Given the description of an element on the screen output the (x, y) to click on. 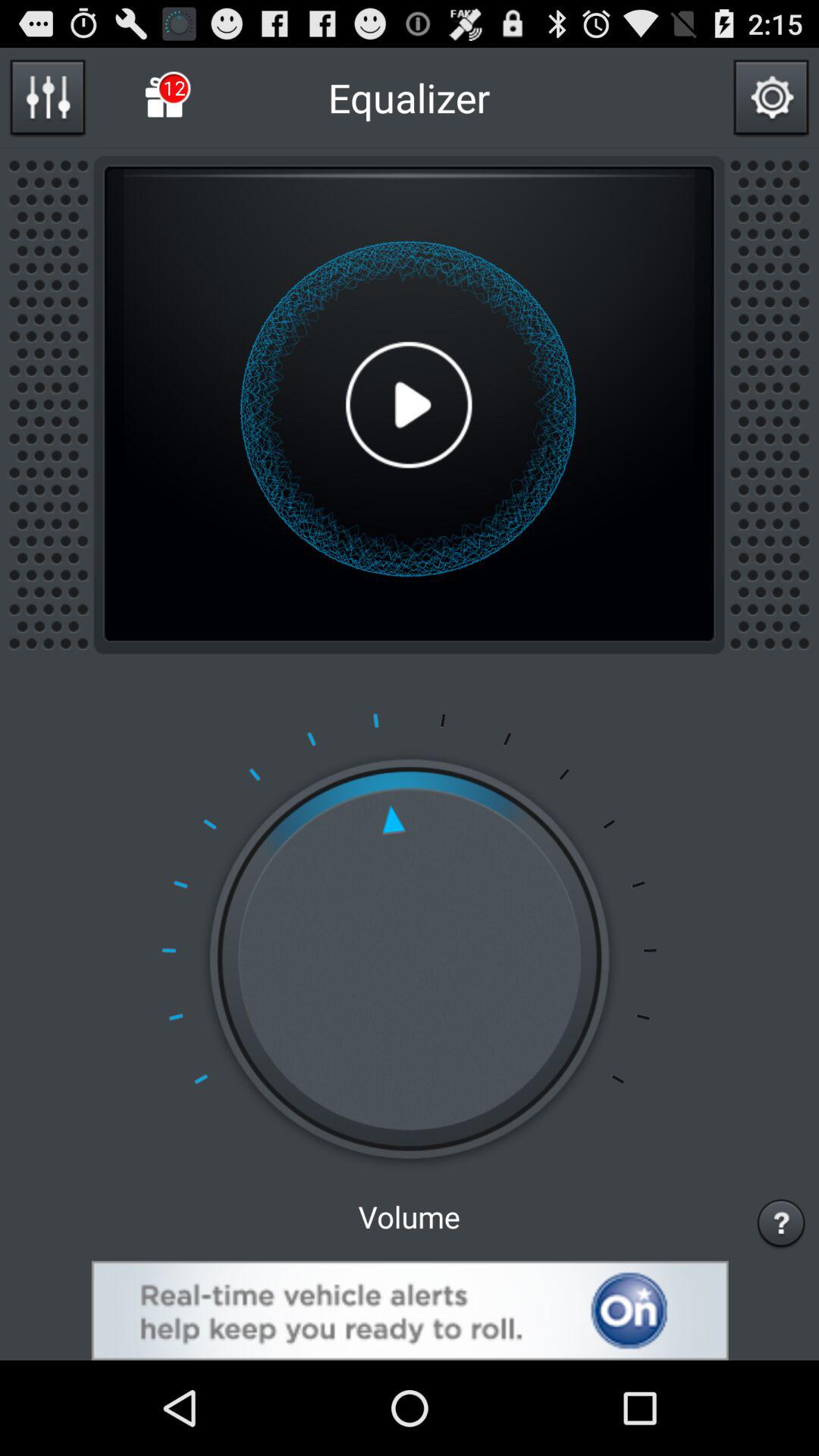
on key (409, 1310)
